Given the description of an element on the screen output the (x, y) to click on. 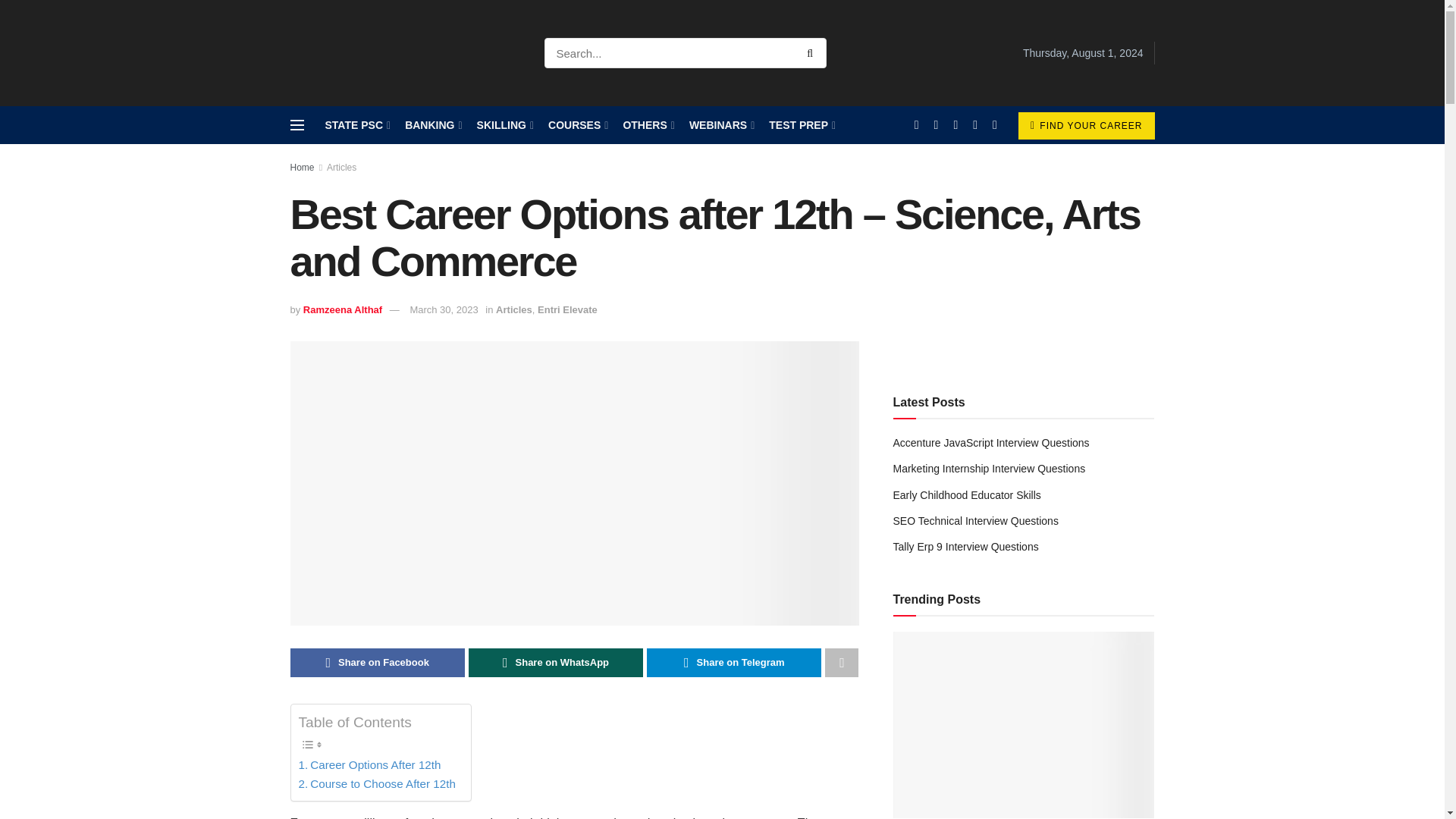
STATE PSC (356, 125)
Career Options After 12th (369, 764)
BANKING (432, 125)
Course to Choose After 12th (376, 783)
